Given the description of an element on the screen output the (x, y) to click on. 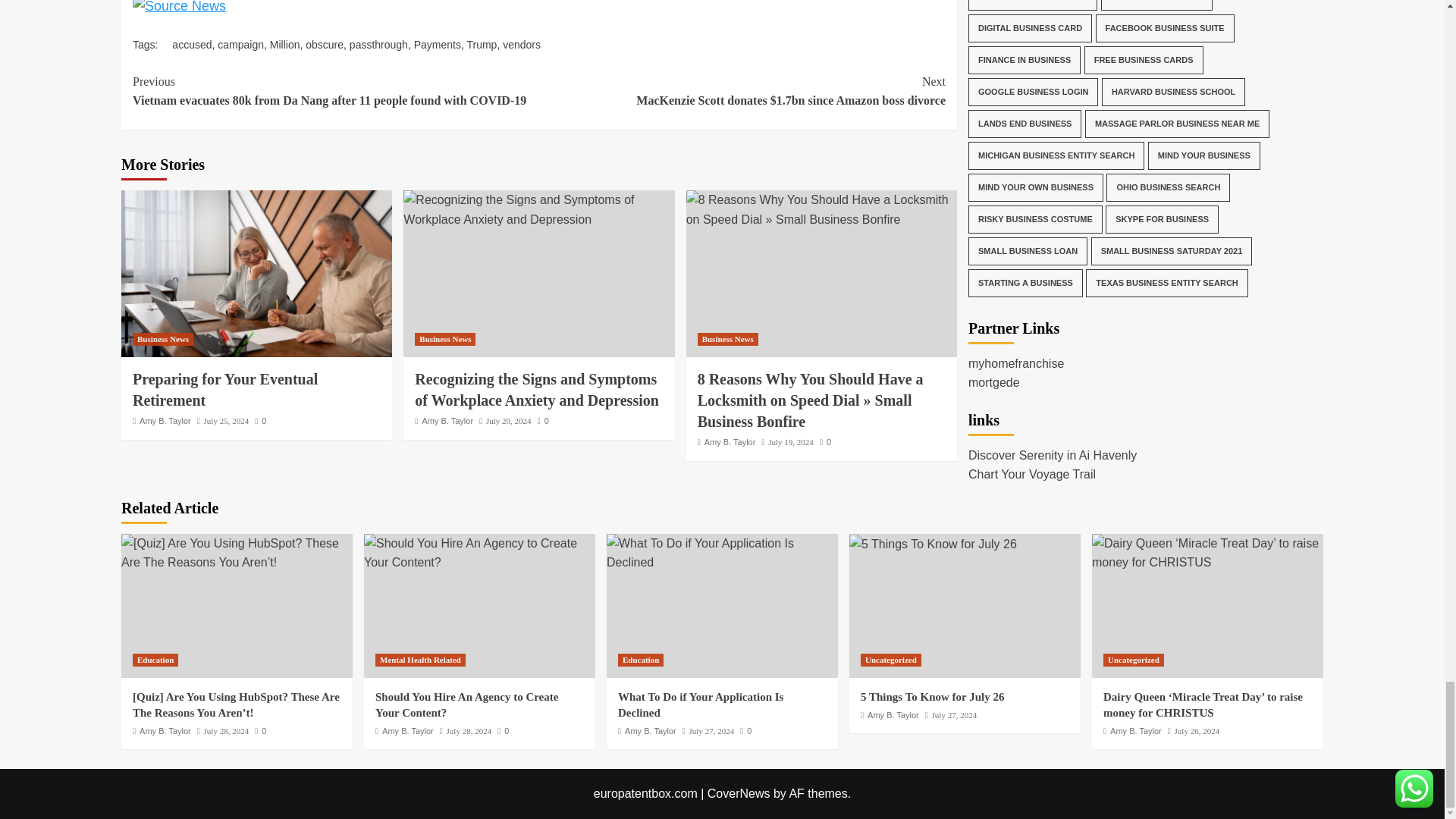
vendors (521, 43)
Preparing for Your Eventual Retirement (255, 273)
campaign (239, 43)
obscure (324, 43)
Trump (480, 43)
Payments (437, 43)
passthrough (378, 43)
Tags: (151, 43)
accused (191, 43)
Million (284, 43)
